Given the description of an element on the screen output the (x, y) to click on. 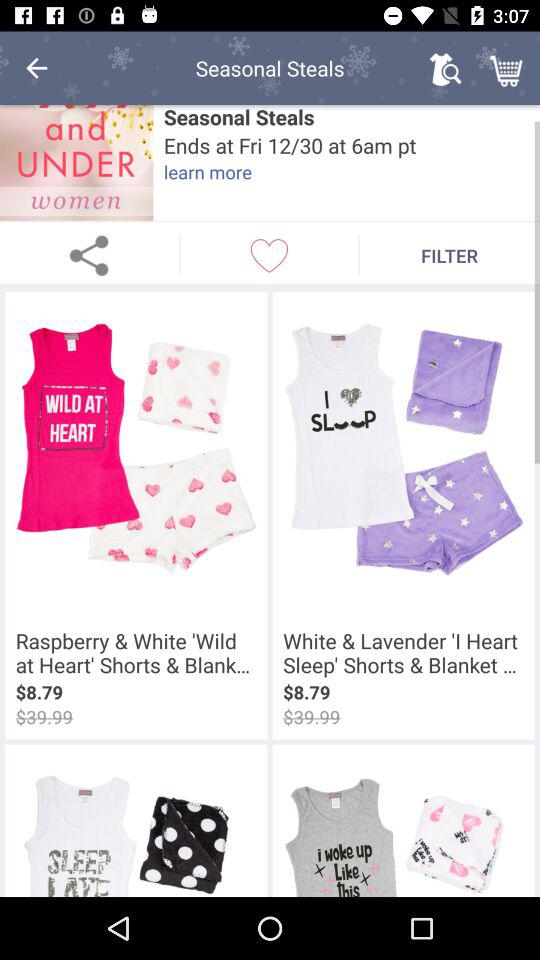
turn on item to the left of the seasonal steals item (76, 162)
